Given the description of an element on the screen output the (x, y) to click on. 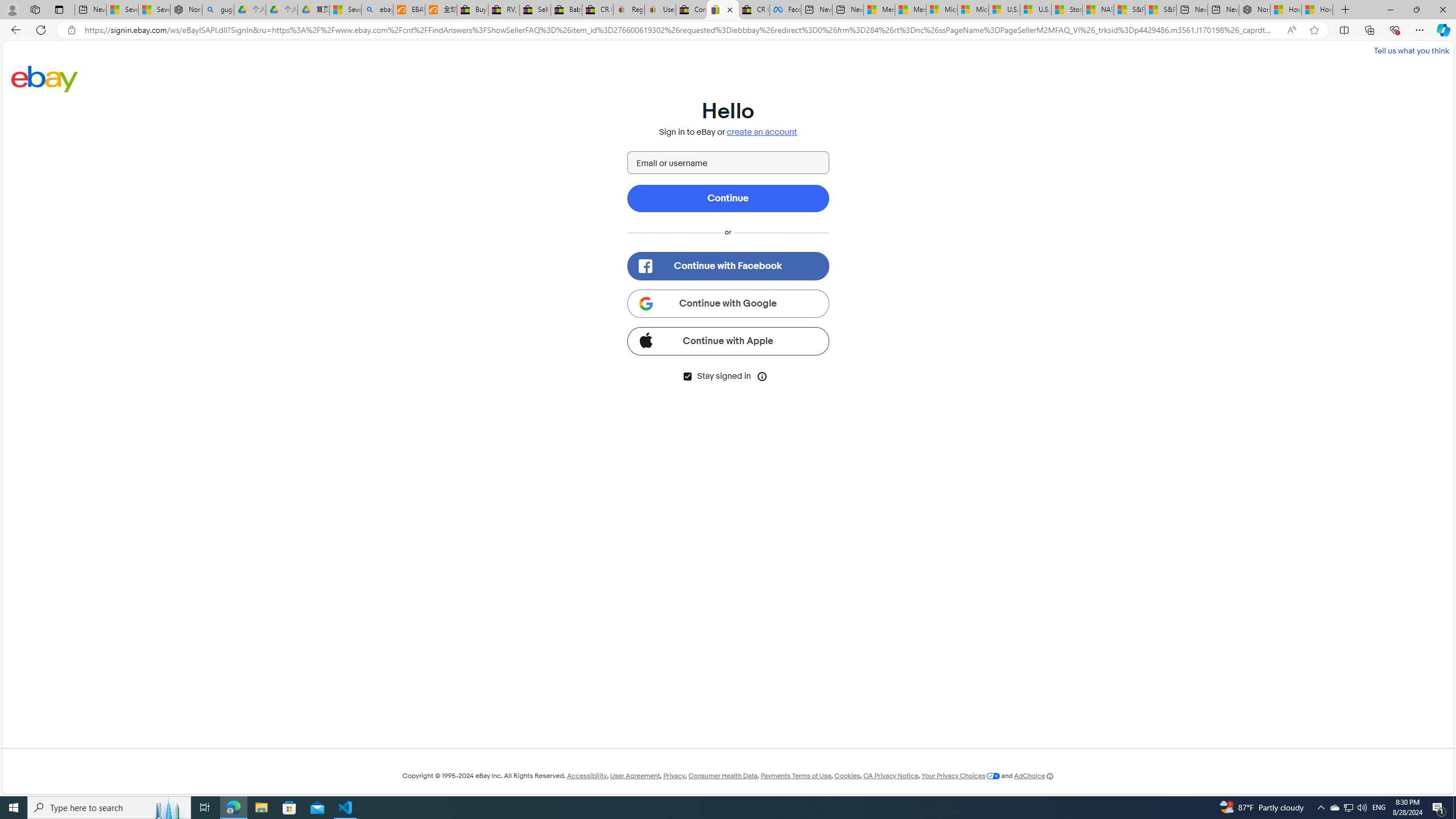
Your Privacy Choices (960, 775)
eBay Home (44, 78)
Cookies (847, 775)
Sign in or Register | eBay (722, 9)
eBay Home (44, 78)
Buy Auto Parts & Accessories | eBay (472, 9)
